Given the description of an element on the screen output the (x, y) to click on. 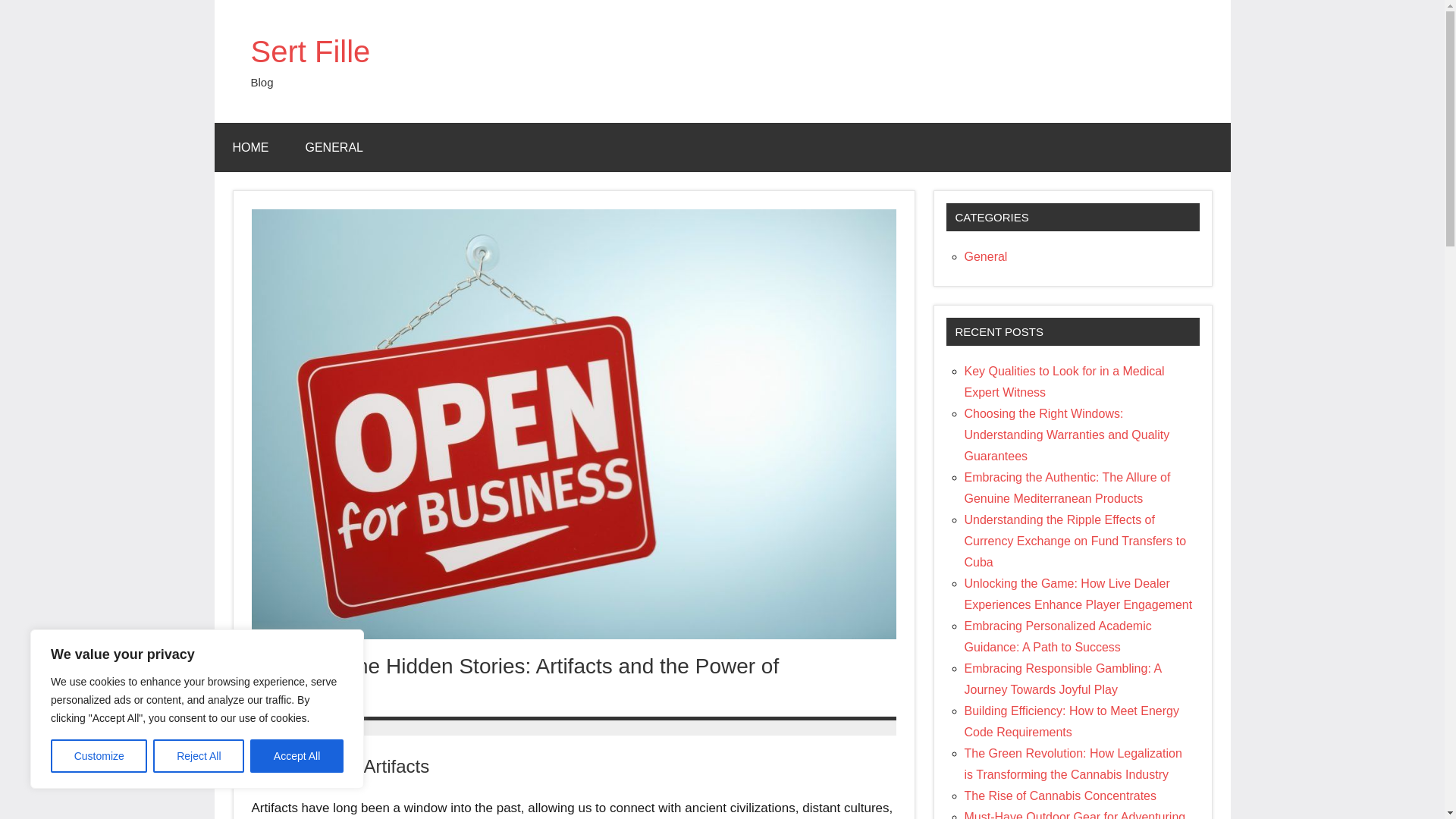
General (985, 256)
HOME (250, 146)
Embracing Personalized Academic Guidance: A Path to Success (1057, 636)
GENERAL (333, 146)
Reject All (198, 756)
Customize (98, 756)
Sert Fille (309, 51)
